Given the description of an element on the screen output the (x, y) to click on. 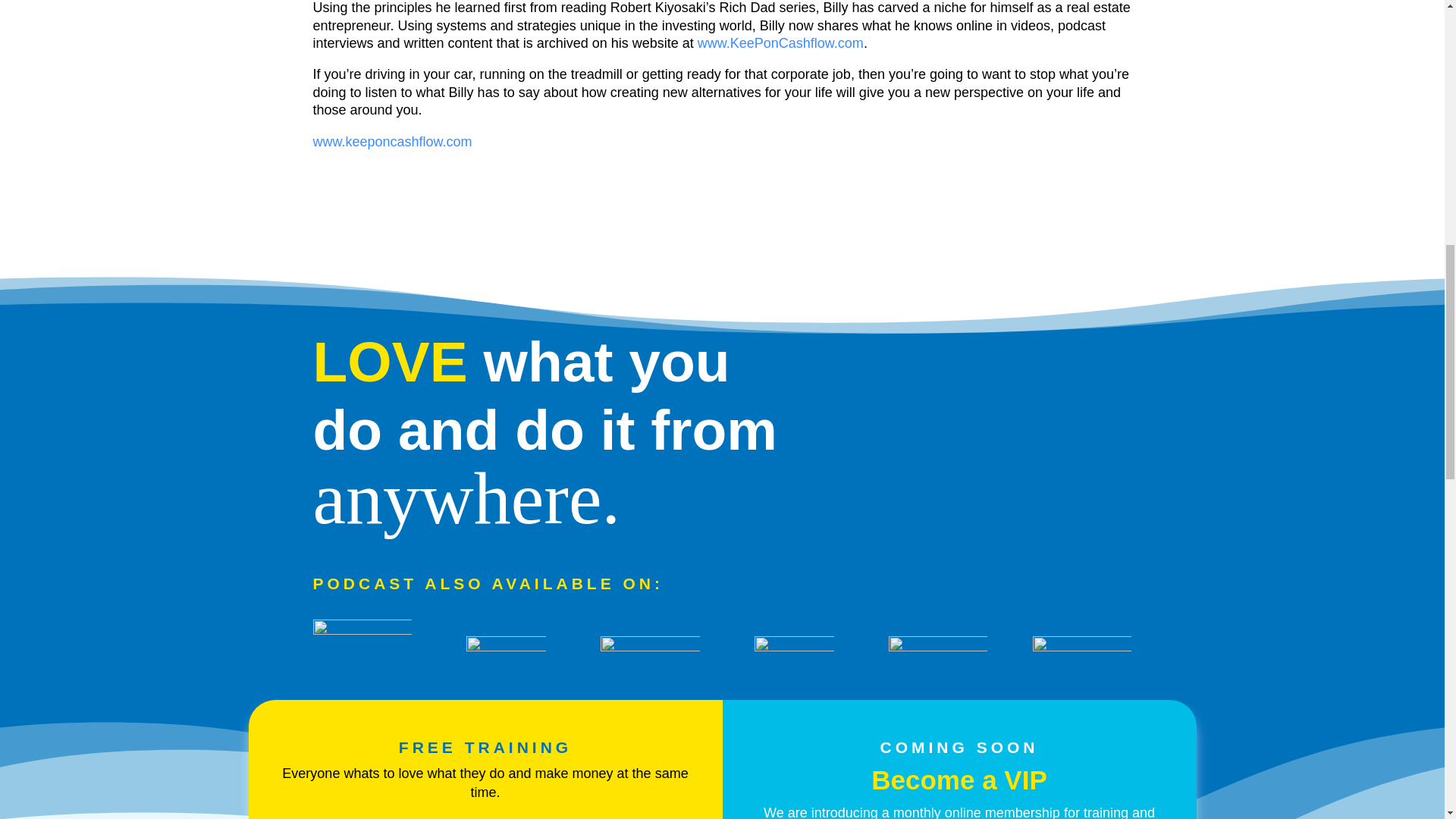
www.KeePonCashflow.com (780, 43)
apple (648, 652)
www.keeponcashflow.com (392, 141)
listen-on-spotify-3 (793, 651)
YT (937, 648)
iheartradio-logo-white (361, 649)
fs-google-podcasts-white-1 (1081, 648)
